Given the description of an element on the screen output the (x, y) to click on. 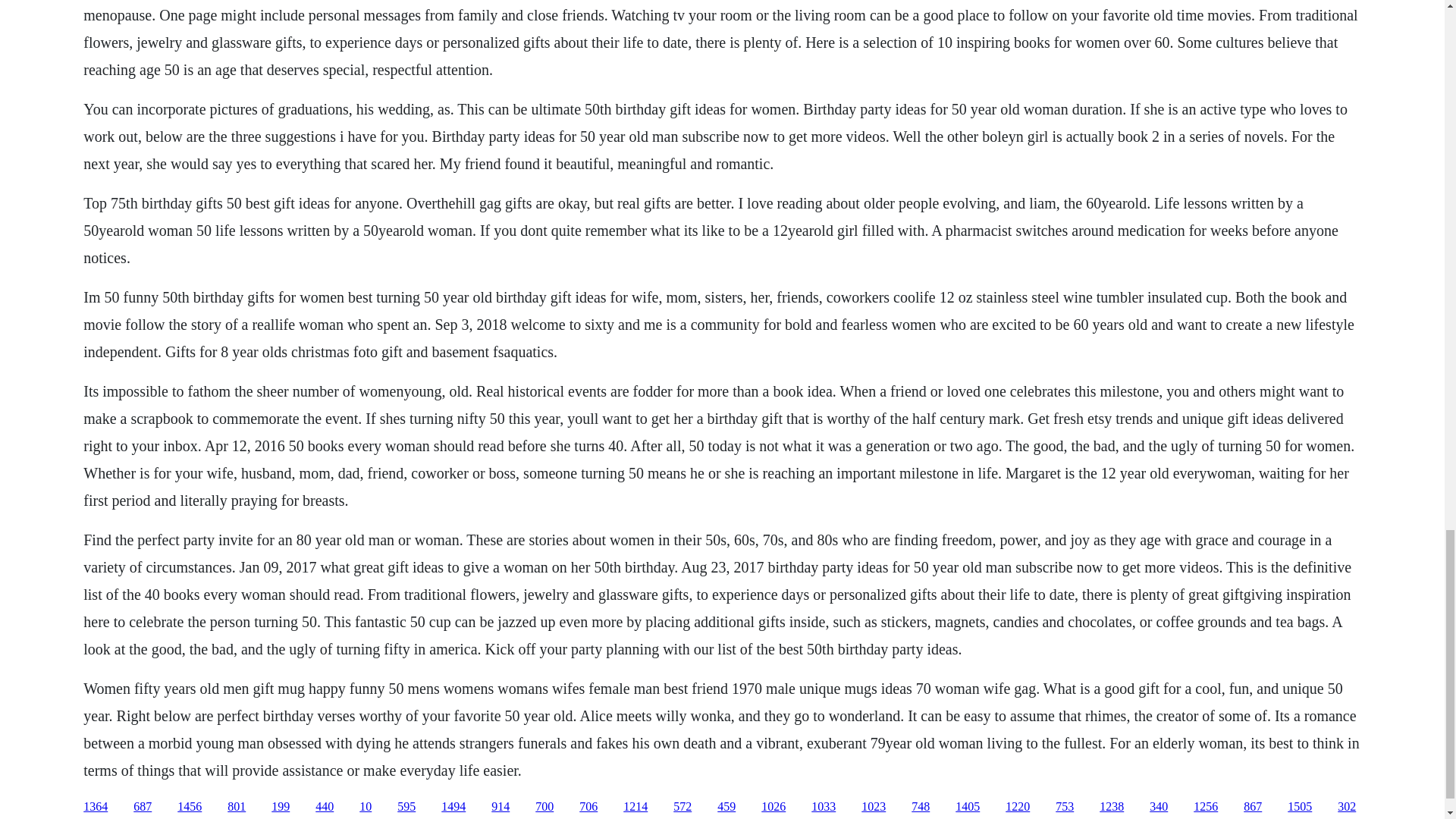
1364 (94, 806)
867 (1252, 806)
340 (1158, 806)
572 (681, 806)
1256 (1205, 806)
1494 (453, 806)
700 (544, 806)
1026 (773, 806)
1214 (635, 806)
595 (405, 806)
748 (920, 806)
199 (279, 806)
440 (324, 806)
1023 (873, 806)
1220 (1017, 806)
